Given the description of an element on the screen output the (x, y) to click on. 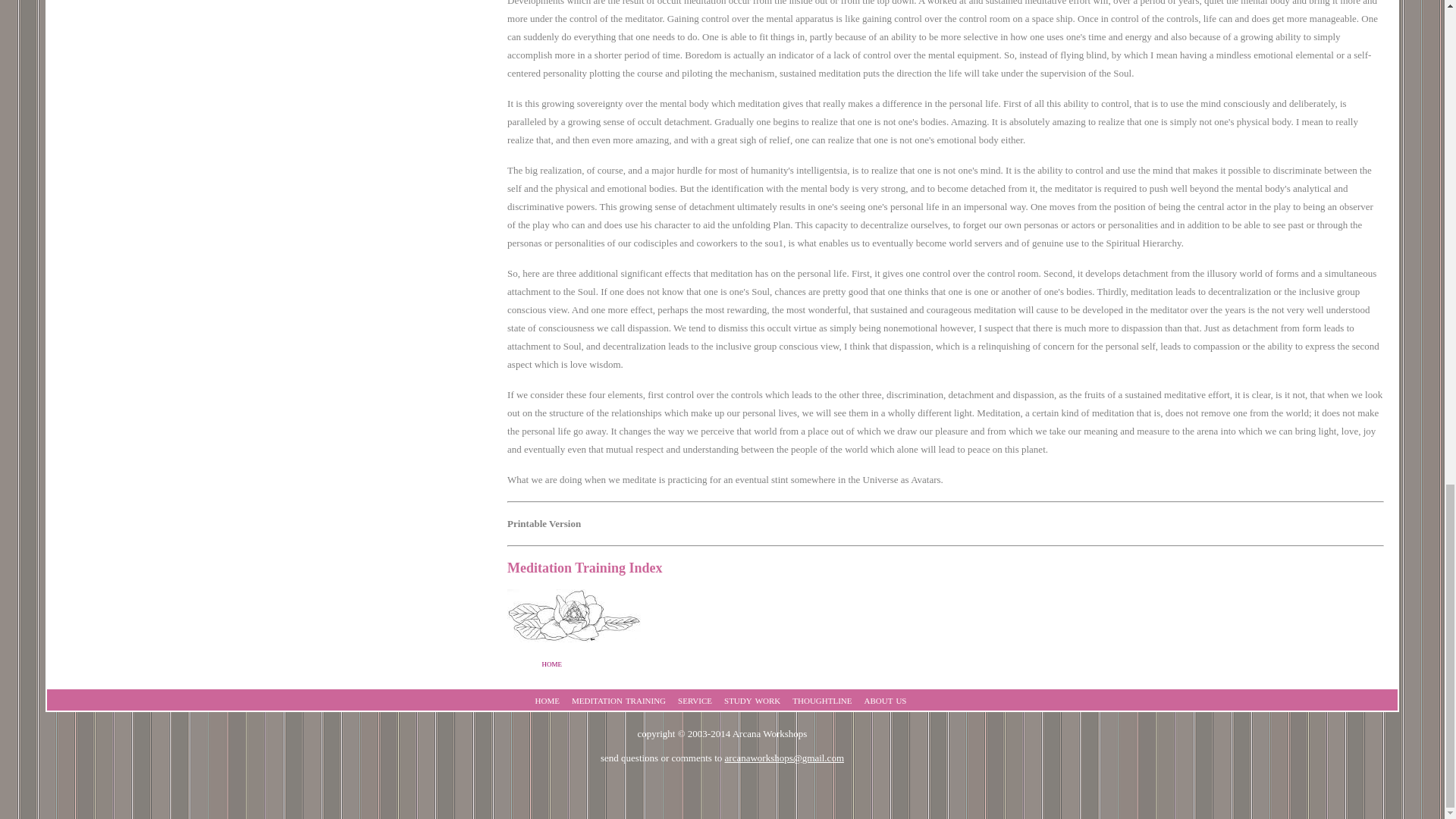
home (547, 698)
home (551, 663)
Meditation Training Index (584, 567)
thoughtline (821, 698)
meditation training (618, 698)
service (694, 698)
Printable Version (543, 522)
about us (885, 698)
study work (751, 698)
